Given the description of an element on the screen output the (x, y) to click on. 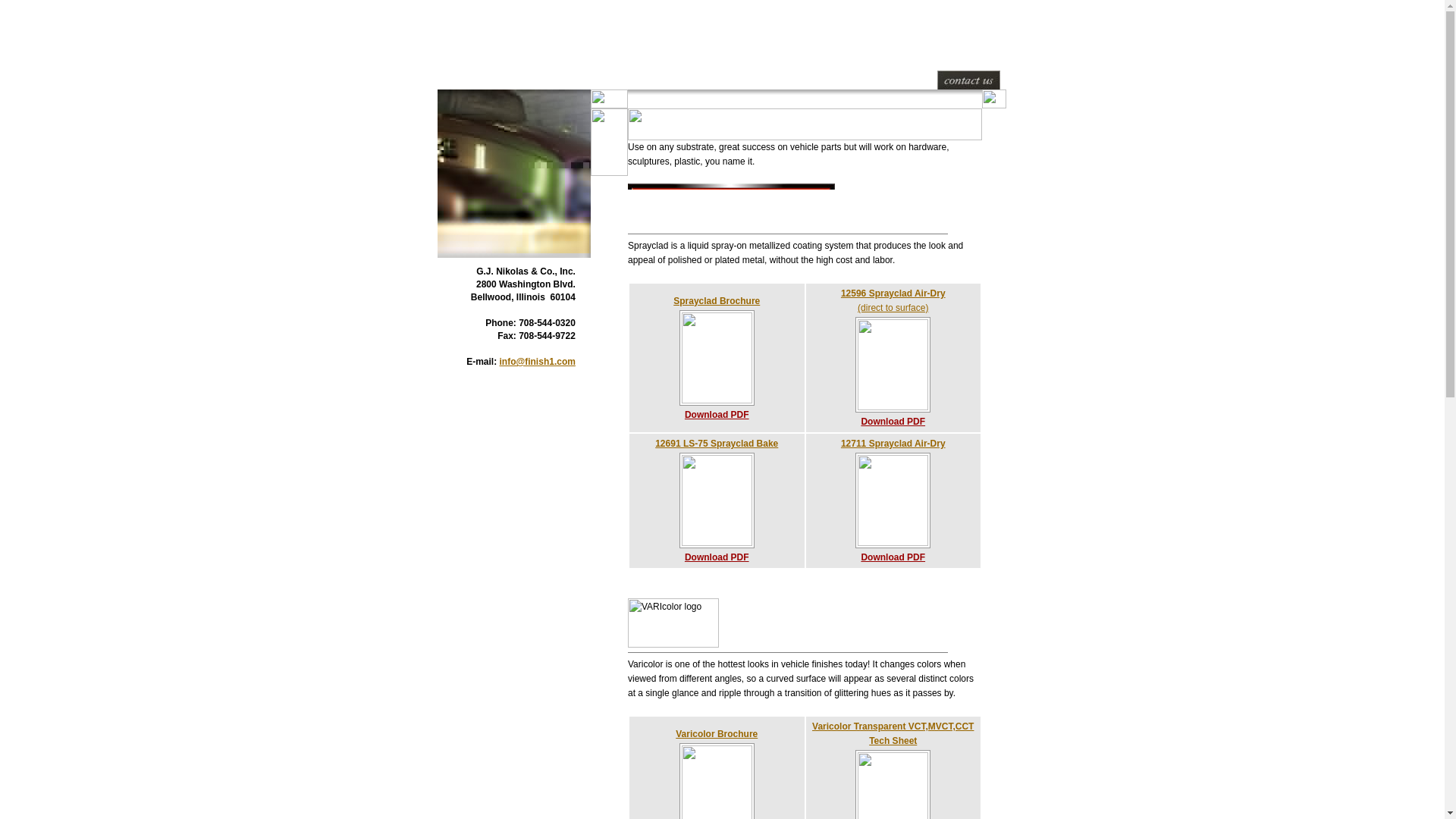
12711 Sprayclad Air-Dry (892, 443)
Varicolor Transparent VCT,MVCT,CCT Tech Sheet (893, 733)
Download PDF (719, 421)
Download PDF (719, 564)
Download PDF (895, 564)
Sprayclad Brochure (716, 300)
12691 LS-75 Sprayclad Bake (716, 443)
Varicolor Brochure (716, 733)
Download PDF (895, 428)
12596 Sprayclad Air-Dry (892, 293)
